Given the description of an element on the screen output the (x, y) to click on. 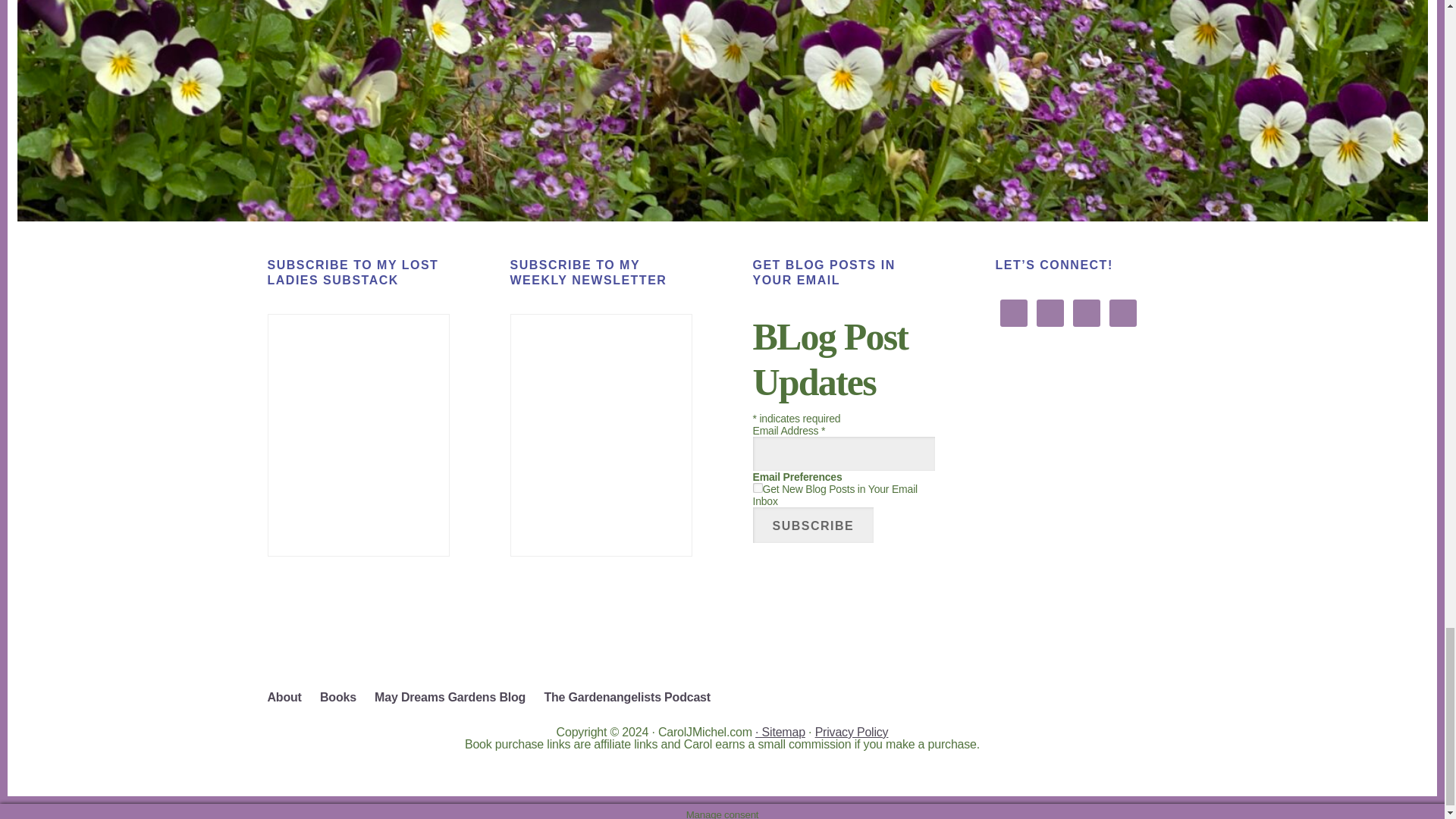
Privacy Policy (851, 731)
Books (345, 697)
About (290, 697)
Subscribe (812, 524)
Subscribe (812, 524)
1 (756, 488)
May Dreams Gardens Blog (457, 697)
The Gardenangelists Podcast (634, 697)
